Given the description of an element on the screen output the (x, y) to click on. 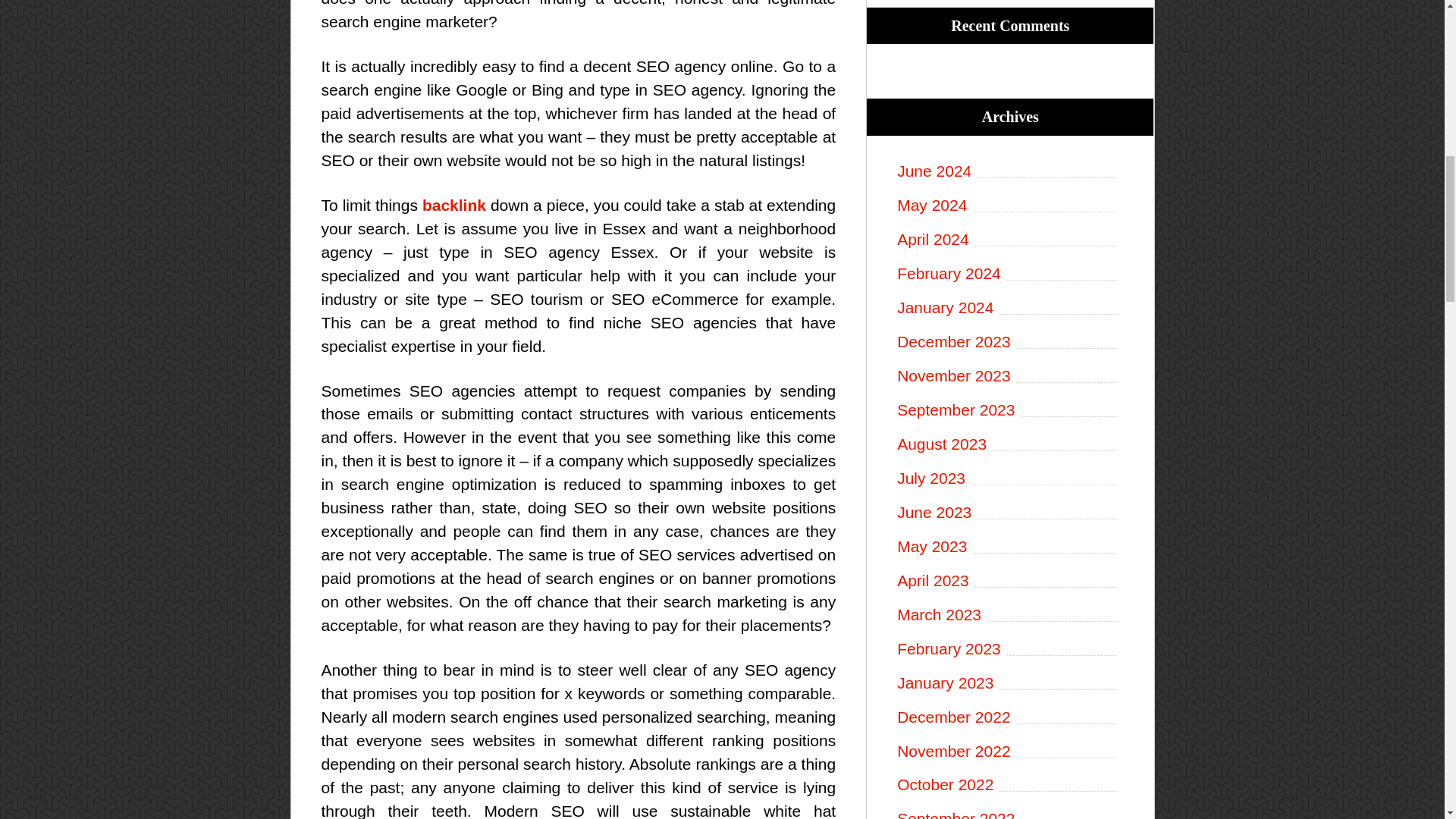
March 2023 (1009, 615)
July 2023 (1009, 478)
May 2023 (1009, 546)
May 2024 (1009, 205)
backlink (454, 204)
August 2023 (1009, 444)
November 2023 (1009, 376)
June 2023 (1009, 512)
September 2023 (1009, 410)
February 2024 (1009, 273)
December 2023 (1009, 341)
April 2023 (1009, 580)
April 2024 (1009, 239)
January 2024 (1009, 308)
June 2024 (1009, 171)
